Given the description of an element on the screen output the (x, y) to click on. 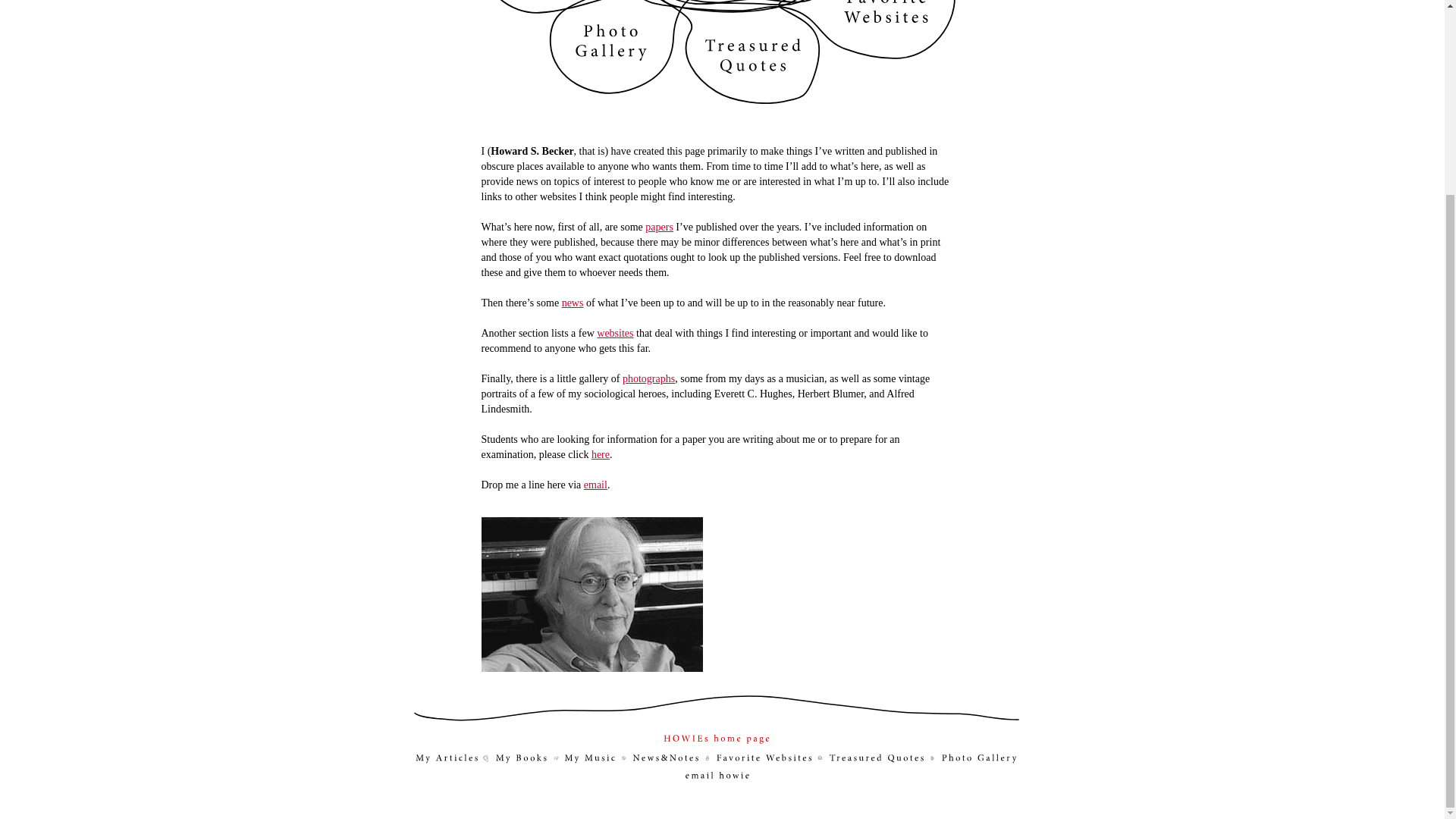
email (595, 484)
here (600, 454)
websites (614, 333)
news (572, 302)
papers (658, 226)
photographs (649, 378)
